Given the description of an element on the screen output the (x, y) to click on. 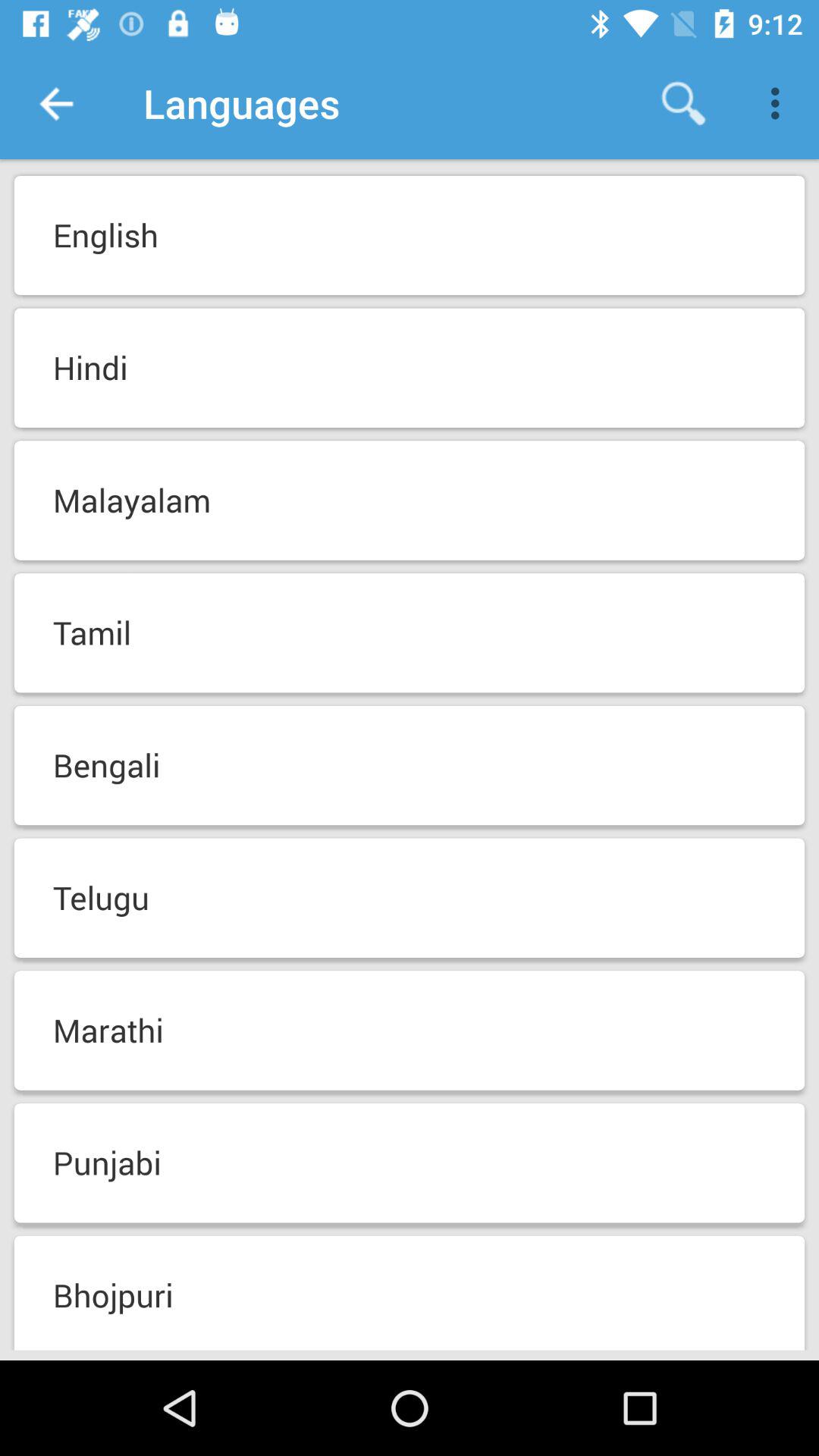
select app to the left of the languages  item (55, 103)
